Given the description of an element on the screen output the (x, y) to click on. 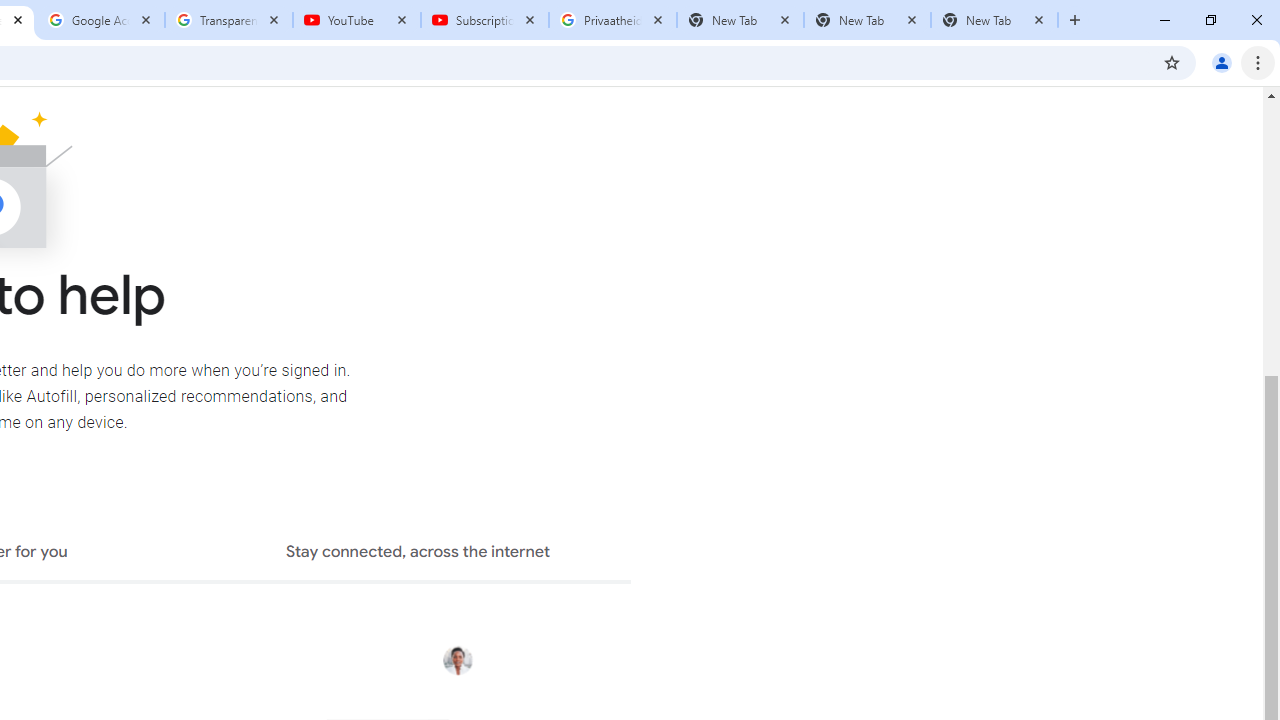
YouTube (357, 20)
Subscriptions - YouTube (485, 20)
New Tab (994, 20)
Google Account (101, 20)
New Tab (866, 20)
Stay connected, across the internet (417, 553)
